Given the description of an element on the screen output the (x, y) to click on. 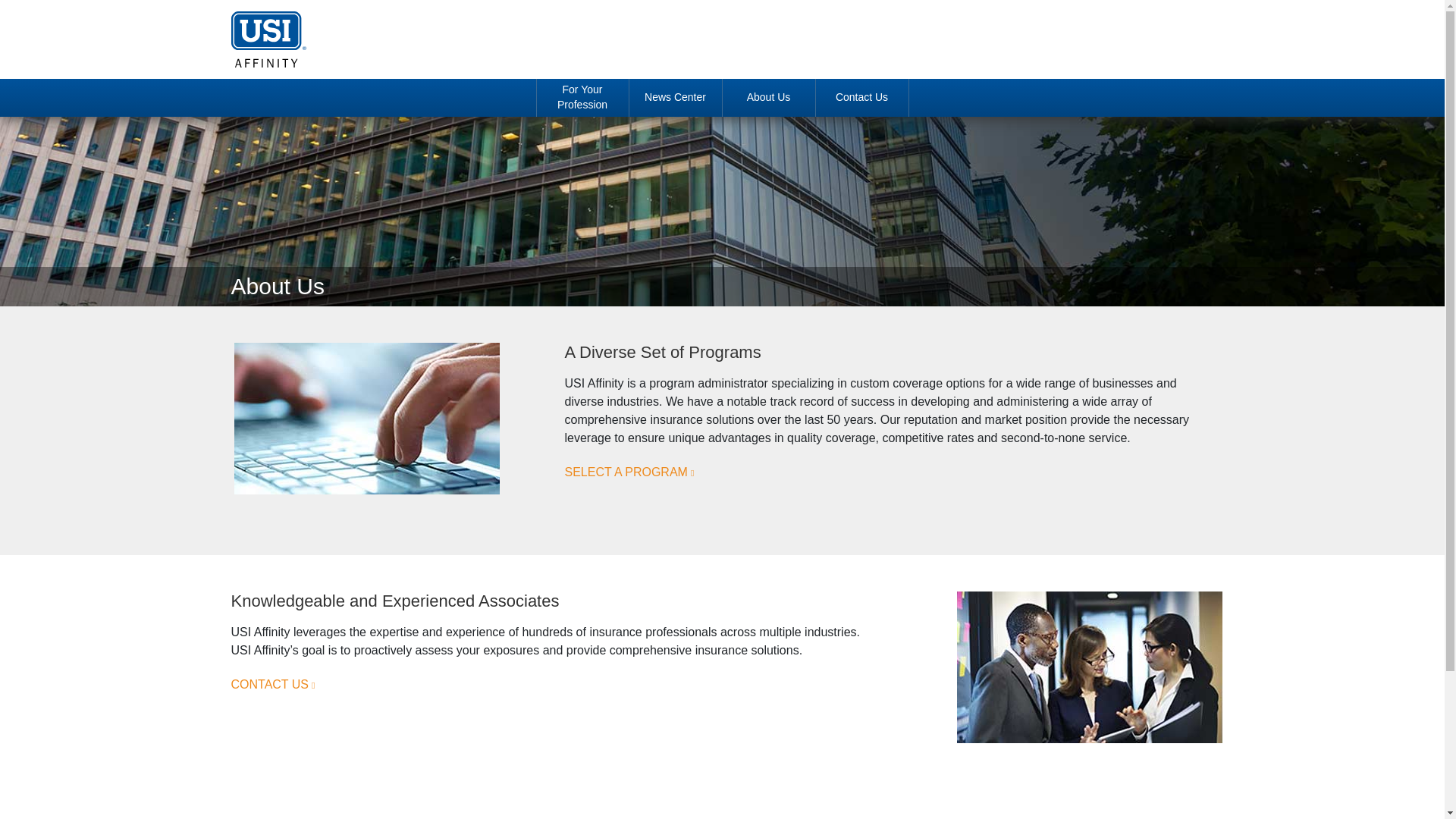
Select a Program (629, 472)
CONTACT US (272, 684)
SELECT A PROGRAM (629, 472)
Contact Us (861, 97)
News Center (675, 97)
For Your Profession (582, 97)
Contact Us (272, 684)
About Us (767, 97)
